Given the description of an element on the screen output the (x, y) to click on. 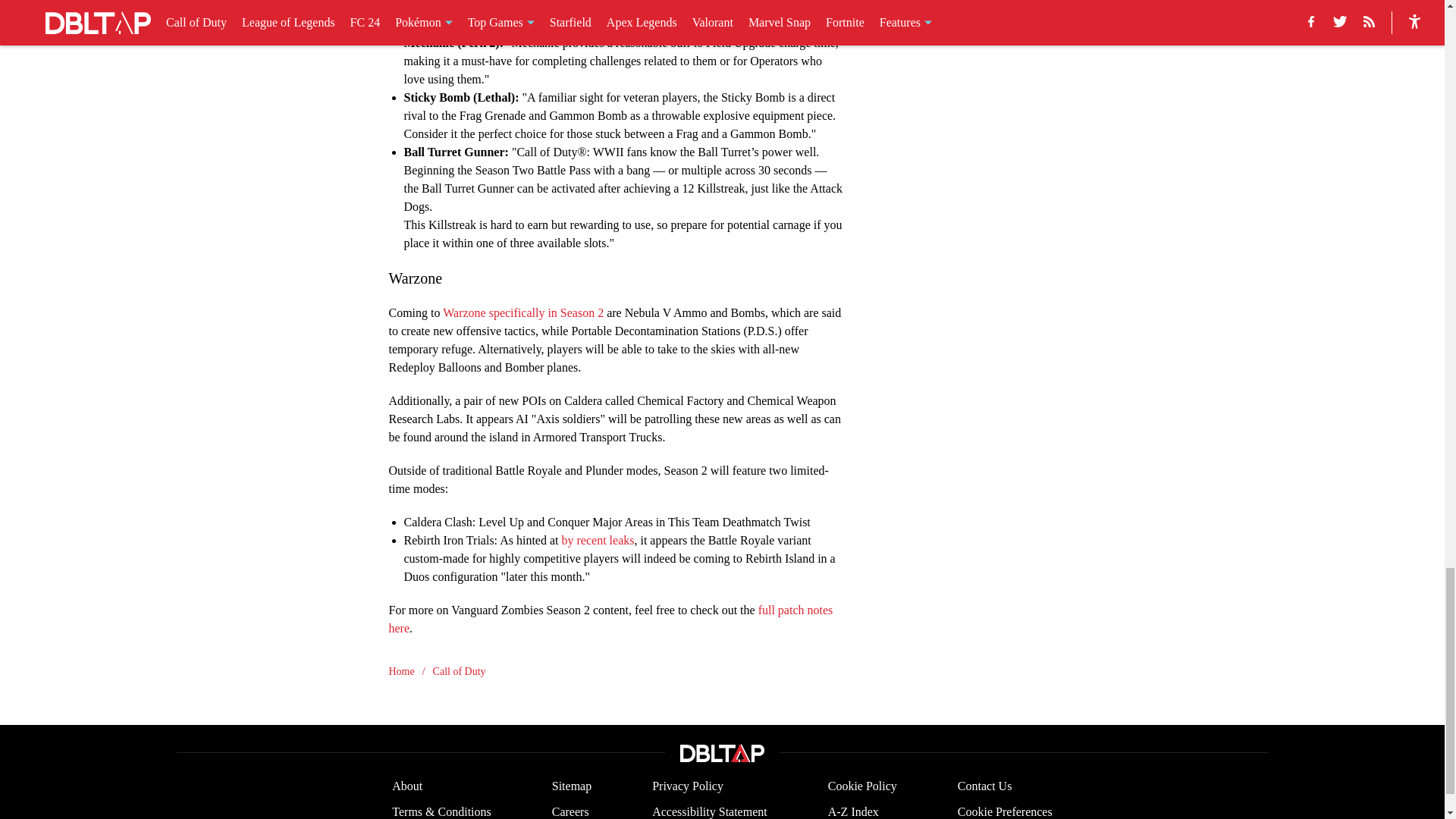
Warzone specifically in Season 2 (523, 311)
Home (400, 670)
by recent leaks (596, 539)
full patch notes here (610, 617)
